Given the description of an element on the screen output the (x, y) to click on. 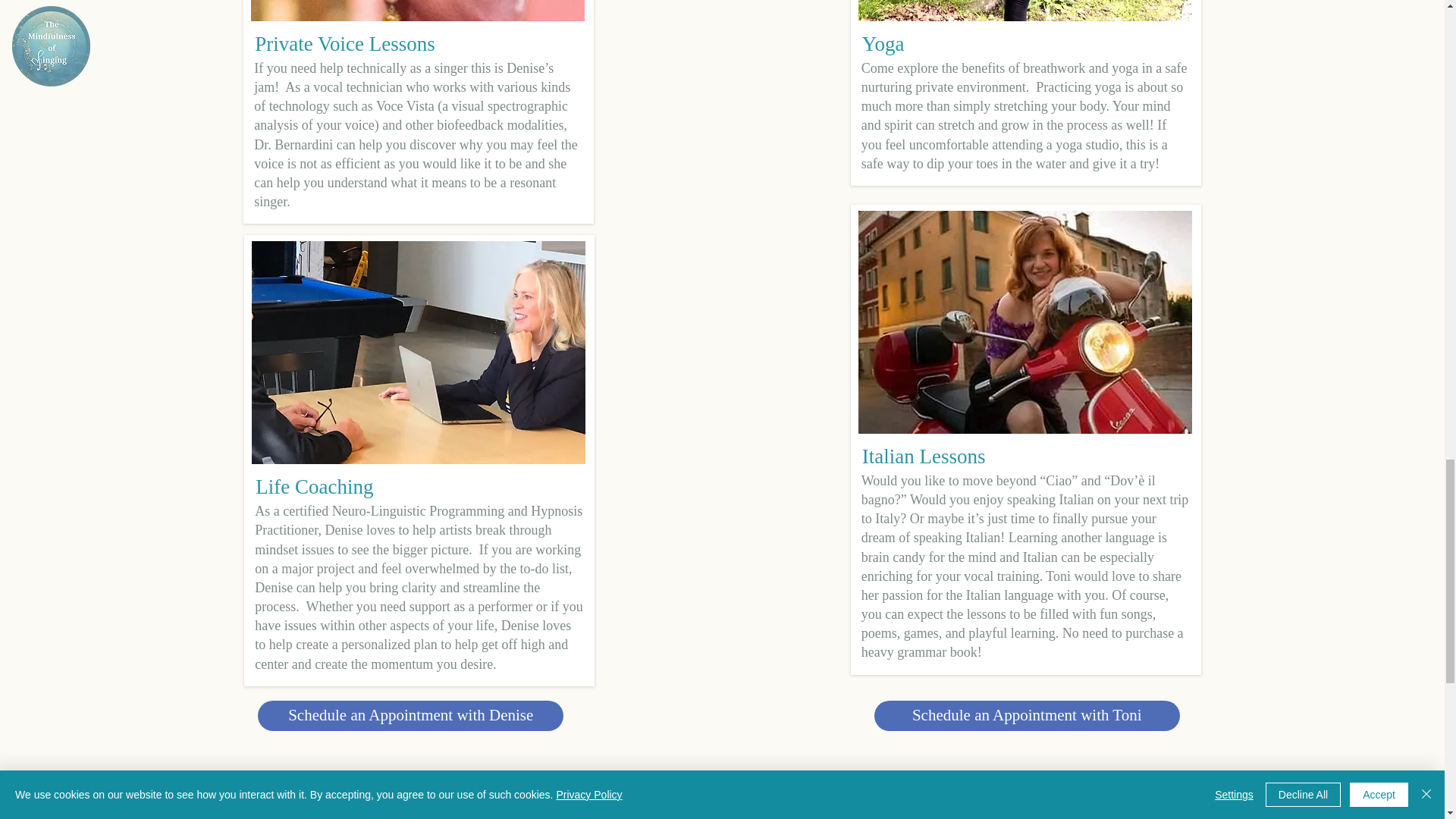
Schedule an Appointment with Toni (1027, 716)
Schedule an Appointment with Denise (410, 716)
